Given the description of an element on the screen output the (x, y) to click on. 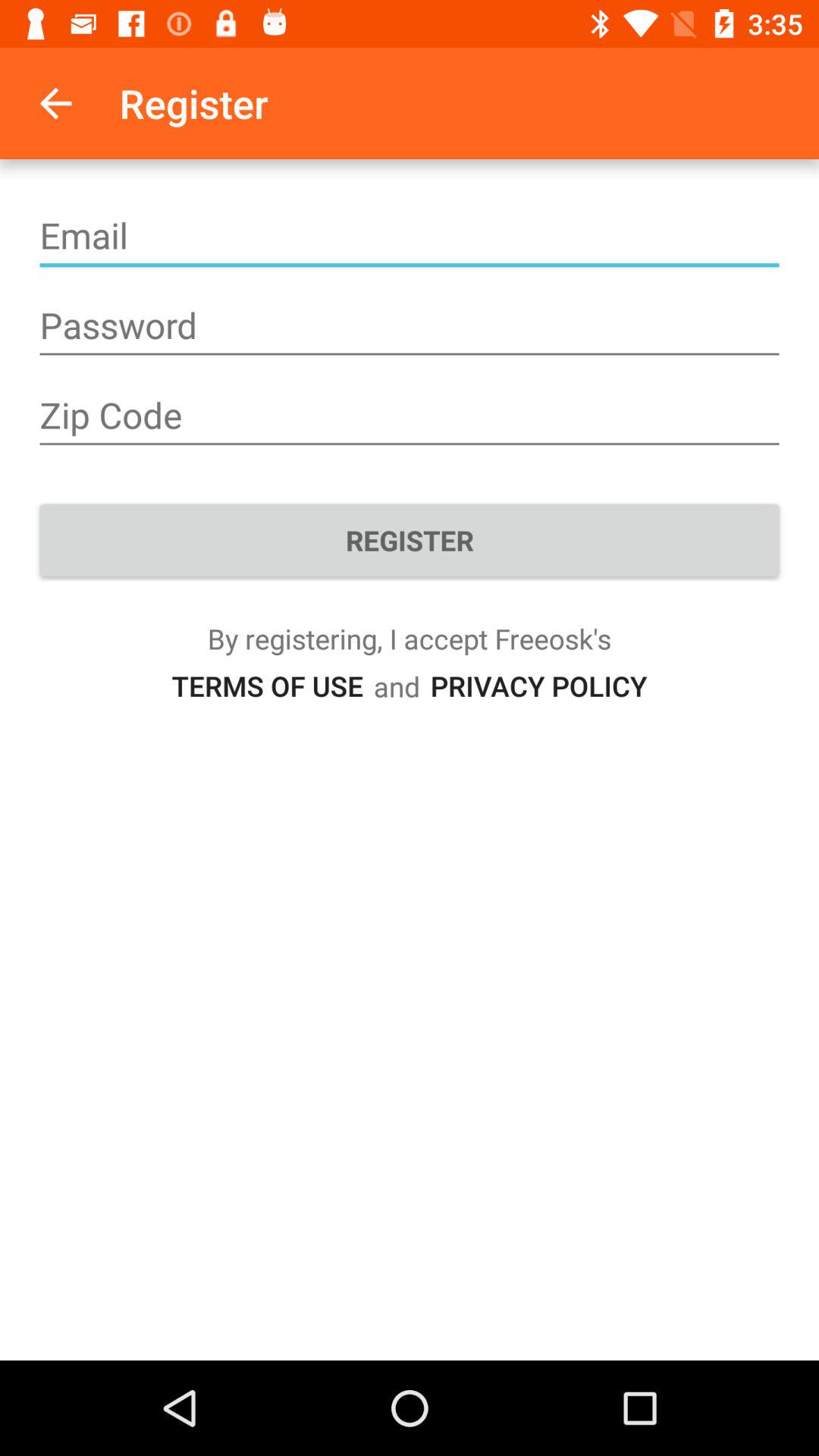
choose the icon next to and (538, 685)
